Given the description of an element on the screen output the (x, y) to click on. 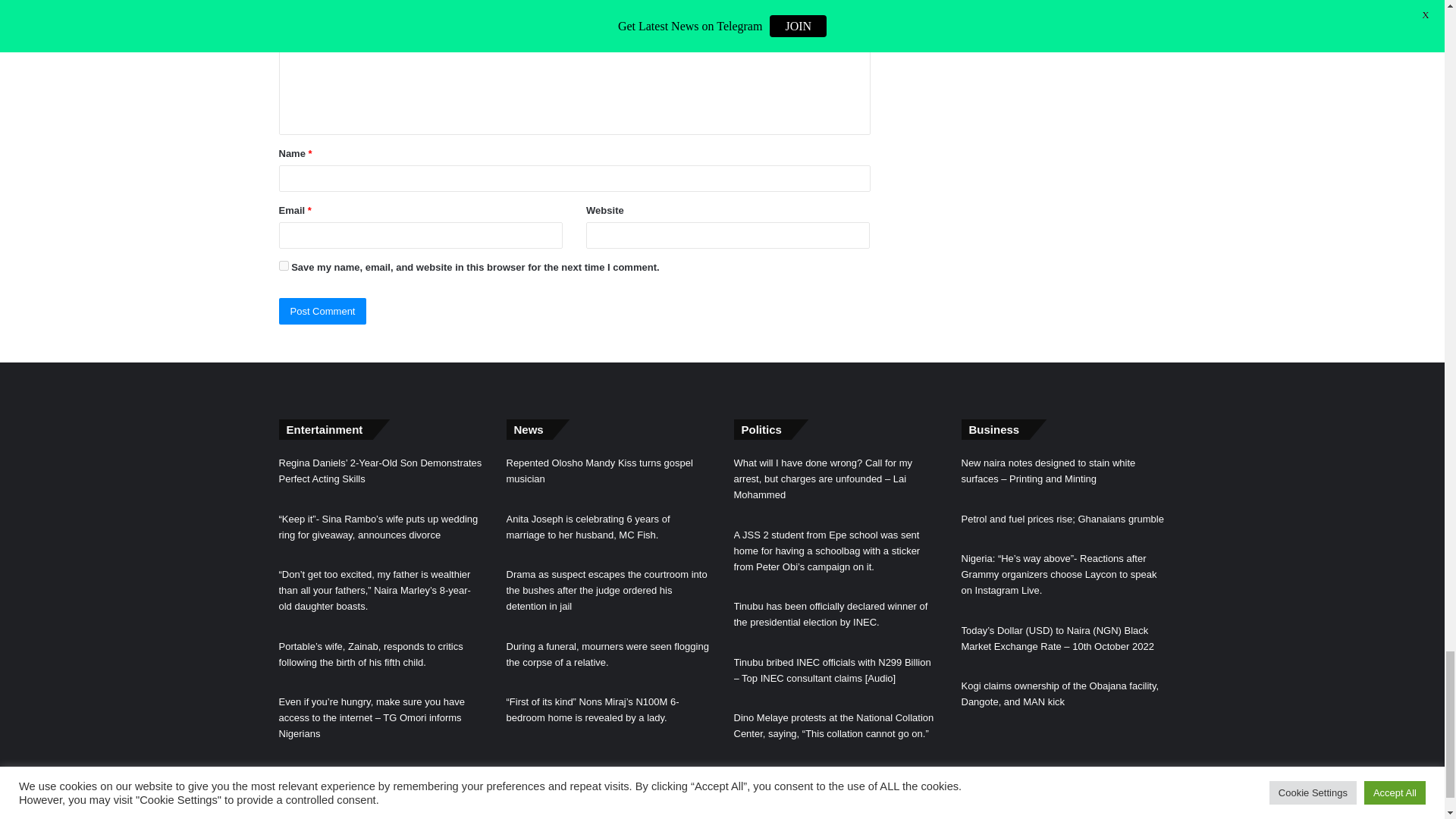
Post Comment (322, 311)
yes (283, 266)
